Given the description of an element on the screen output the (x, y) to click on. 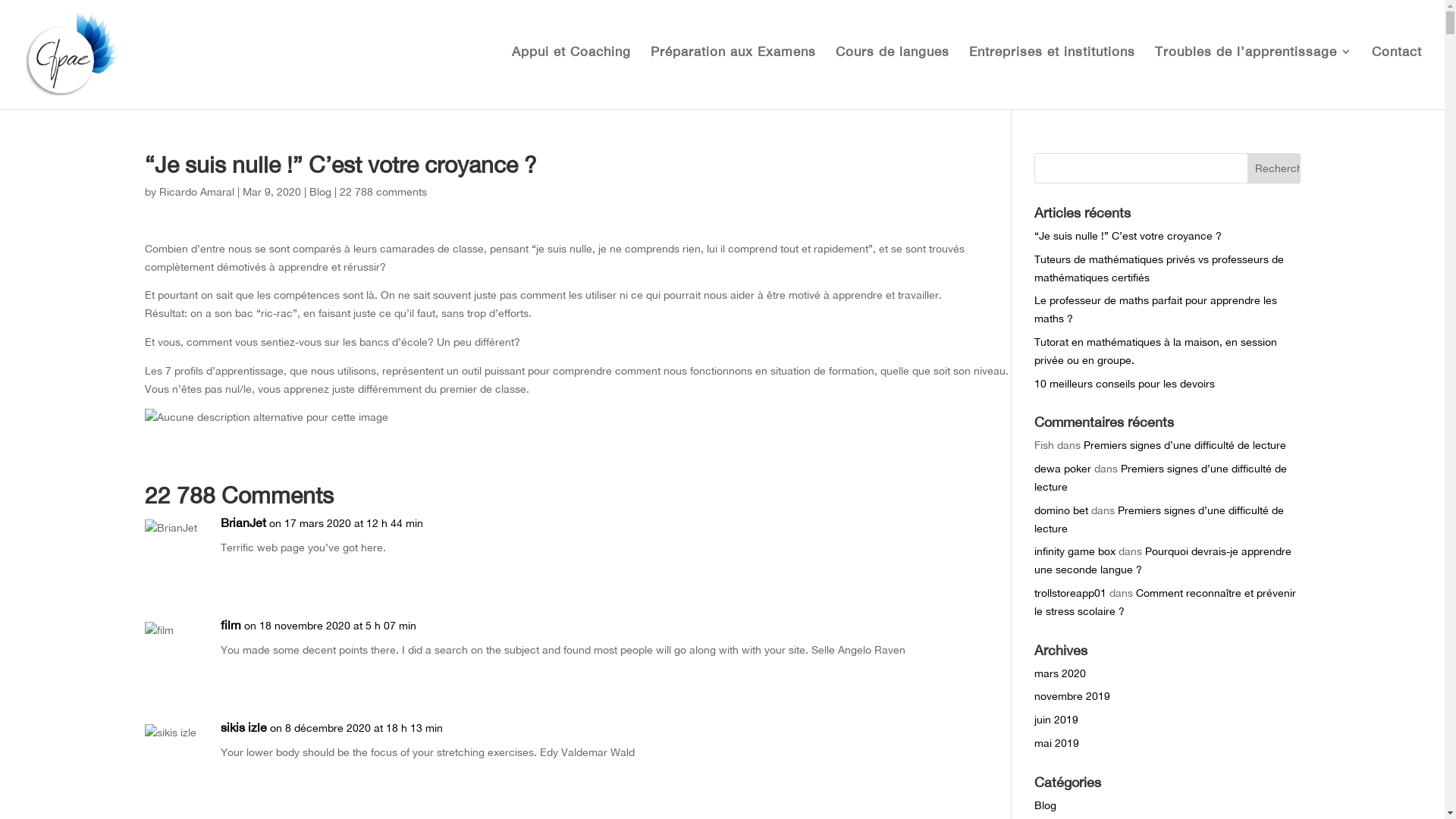
infinity game box Element type: text (1074, 551)
10 meilleurs conseils pour les devoirs Element type: text (1124, 383)
mars 2020 Element type: text (1059, 673)
Appui et Coaching Element type: text (570, 76)
trollstoreapp01 Element type: text (1070, 592)
Rechercher Element type: text (1272, 168)
novembre 2019 Element type: text (1072, 696)
mai 2019 Element type: text (1056, 743)
Contact Element type: text (1396, 76)
domino bet Element type: text (1061, 510)
Ricardo Amaral Element type: text (196, 191)
Blog Element type: text (320, 191)
Pourquoi devrais-je apprendre une seconde langue ? Element type: text (1162, 560)
Blog Element type: text (1045, 805)
juin 2019 Element type: text (1056, 719)
Le professeur de maths parfait pour apprendre les maths ? Element type: text (1155, 309)
sikis izle Element type: text (242, 727)
Entreprises et institutions Element type: text (1052, 76)
dewa poker Element type: text (1062, 468)
film Element type: text (229, 625)
Cours de langues Element type: text (892, 76)
22 788 comments Element type: text (382, 191)
BrianJet Element type: text (242, 523)
